Given the description of an element on the screen output the (x, y) to click on. 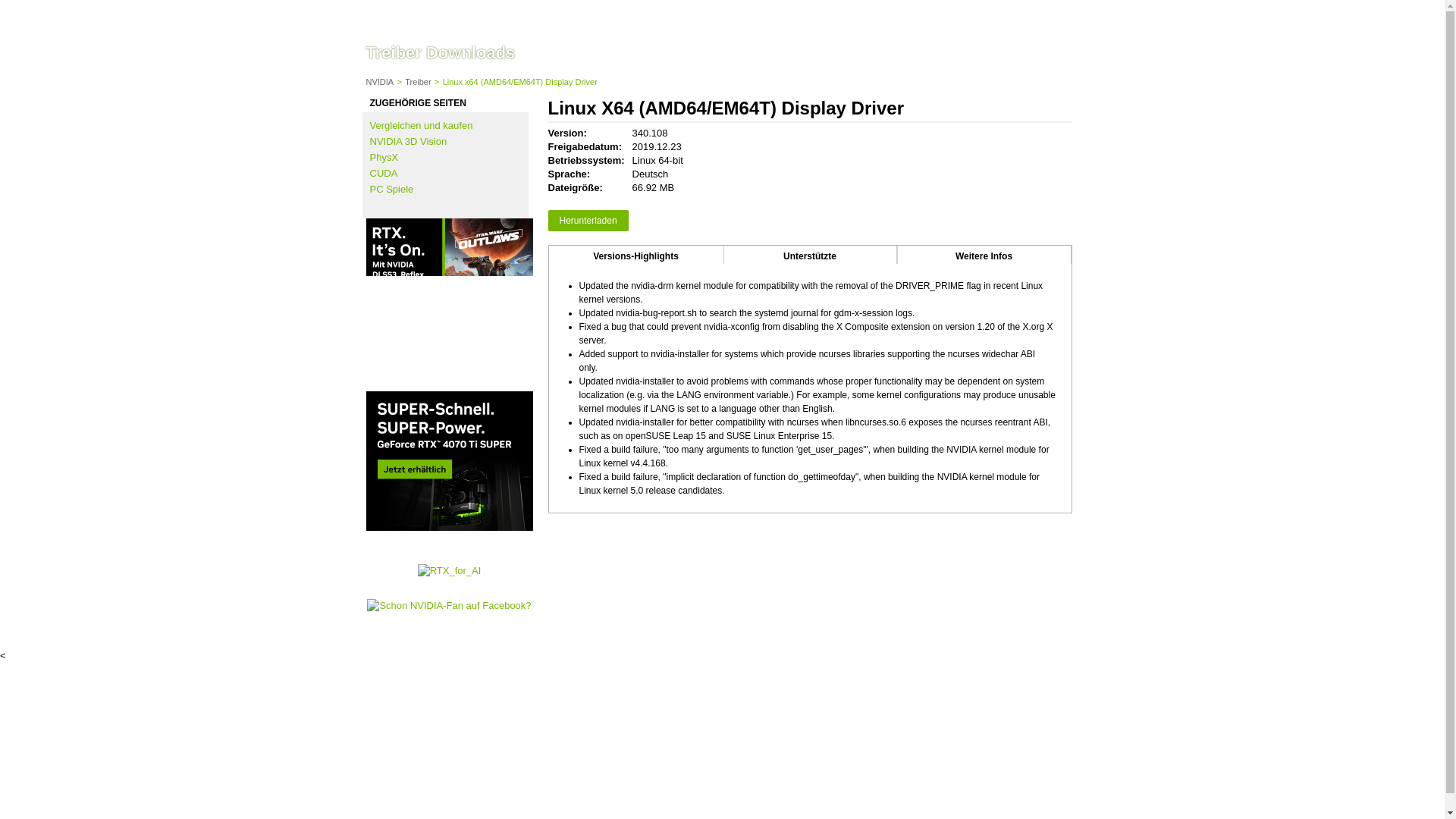
PhysX (383, 156)
Herunterladen (587, 220)
Schon NVIDIA-Fan auf Facebook? (448, 605)
CUDA (383, 173)
PC Spiele (391, 188)
NVIDIA 3D Vision (407, 141)
NVIDIA (379, 81)
Vergleichen und kaufen (421, 125)
Treiber (417, 81)
